Given the description of an element on the screen output the (x, y) to click on. 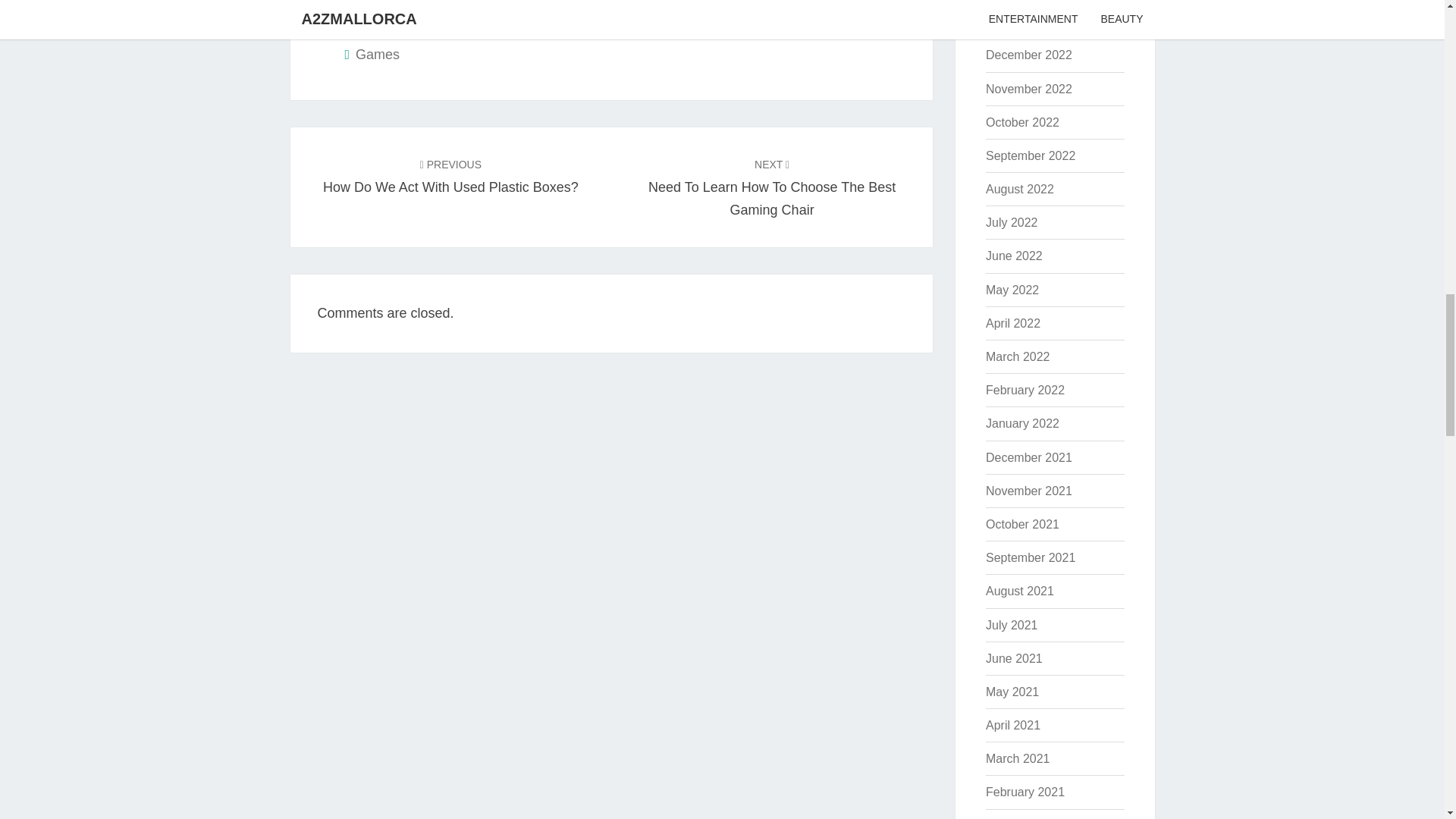
November 2022 (1028, 88)
December 2022 (1028, 54)
September 2022 (1030, 155)
May 2022 (1012, 289)
June 2022 (771, 186)
October 2022 (1013, 255)
Games (450, 175)
July 2022 (1022, 122)
